Given the description of an element on the screen output the (x, y) to click on. 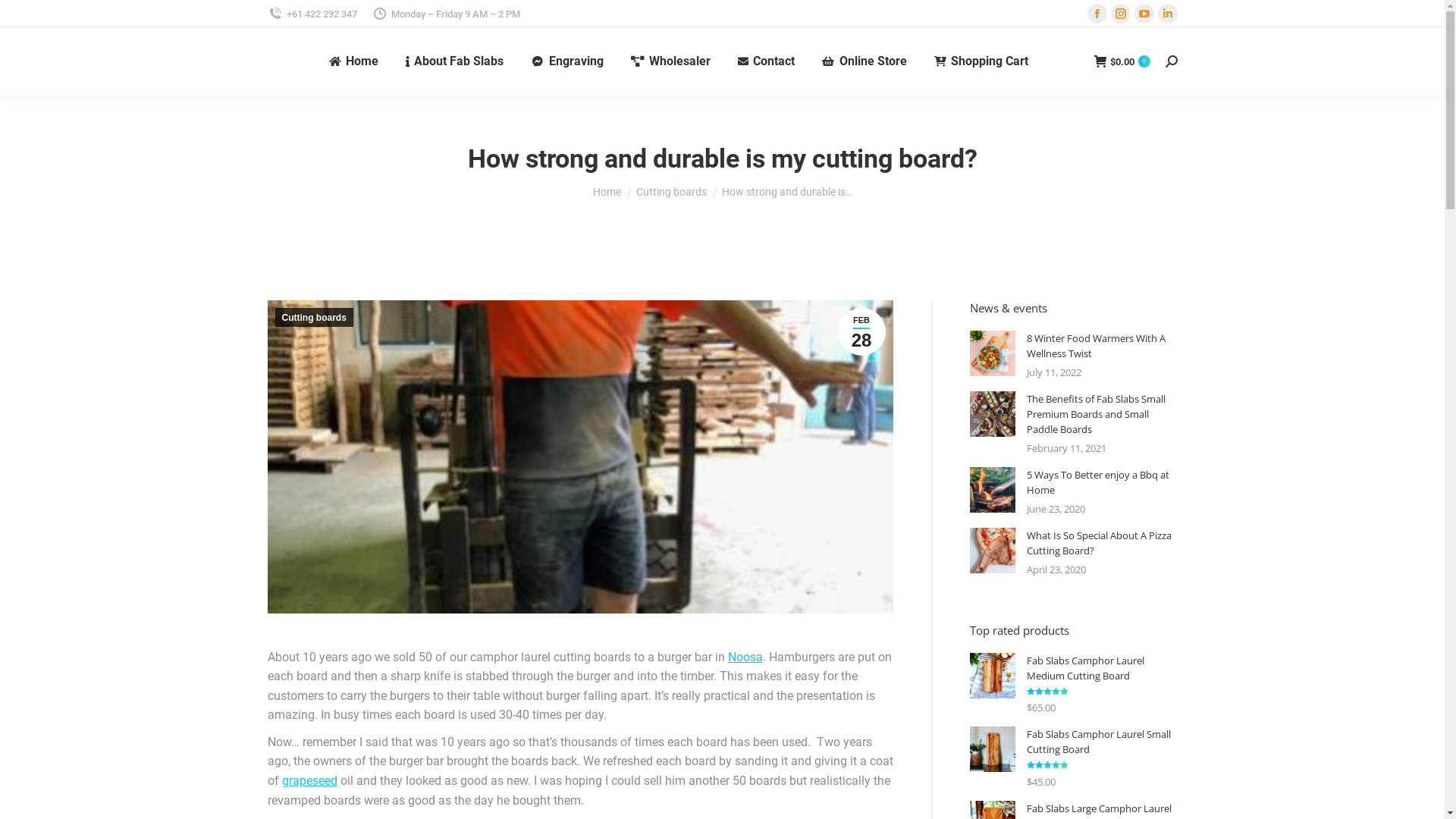
Go! Element type: text (23, 16)
Shopping Cart Element type: text (981, 60)
Linkedin page opens in new window Element type: text (1166, 13)
What Is So Special About A Pizza Cutting Board? Element type: text (1101, 542)
About Fab Slabs Element type: text (454, 60)
Online Store Element type: text (864, 60)
Cutting boards Element type: text (670, 191)
durable cutting board Element type: hover (579, 456)
8 Winter Food Warmers With A Wellness Twist Element type: text (1101, 345)
Fab Slabs Camphor Laurel Medium Cutting Board Element type: text (1101, 667)
Home Element type: text (607, 191)
Engraving Element type: text (566, 60)
FEB
28 Element type: text (860, 331)
Instagram page opens in new window Element type: text (1119, 13)
5 Ways To Better enjoy a Bbq at Home Element type: text (1101, 482)
Fab Slabs Camphor Laurel Small Cutting Board Element type: text (1101, 741)
Facebook page opens in new window Element type: text (1097, 13)
Contact Element type: text (765, 60)
$0.00
0 Element type: text (1121, 60)
Cutting boards Element type: text (313, 316)
Noosa Element type: text (745, 656)
Wholesaler Element type: text (670, 60)
grapeseed Element type: text (309, 780)
Home Element type: text (353, 60)
YouTube page opens in new window Element type: text (1144, 13)
